Given the description of an element on the screen output the (x, y) to click on. 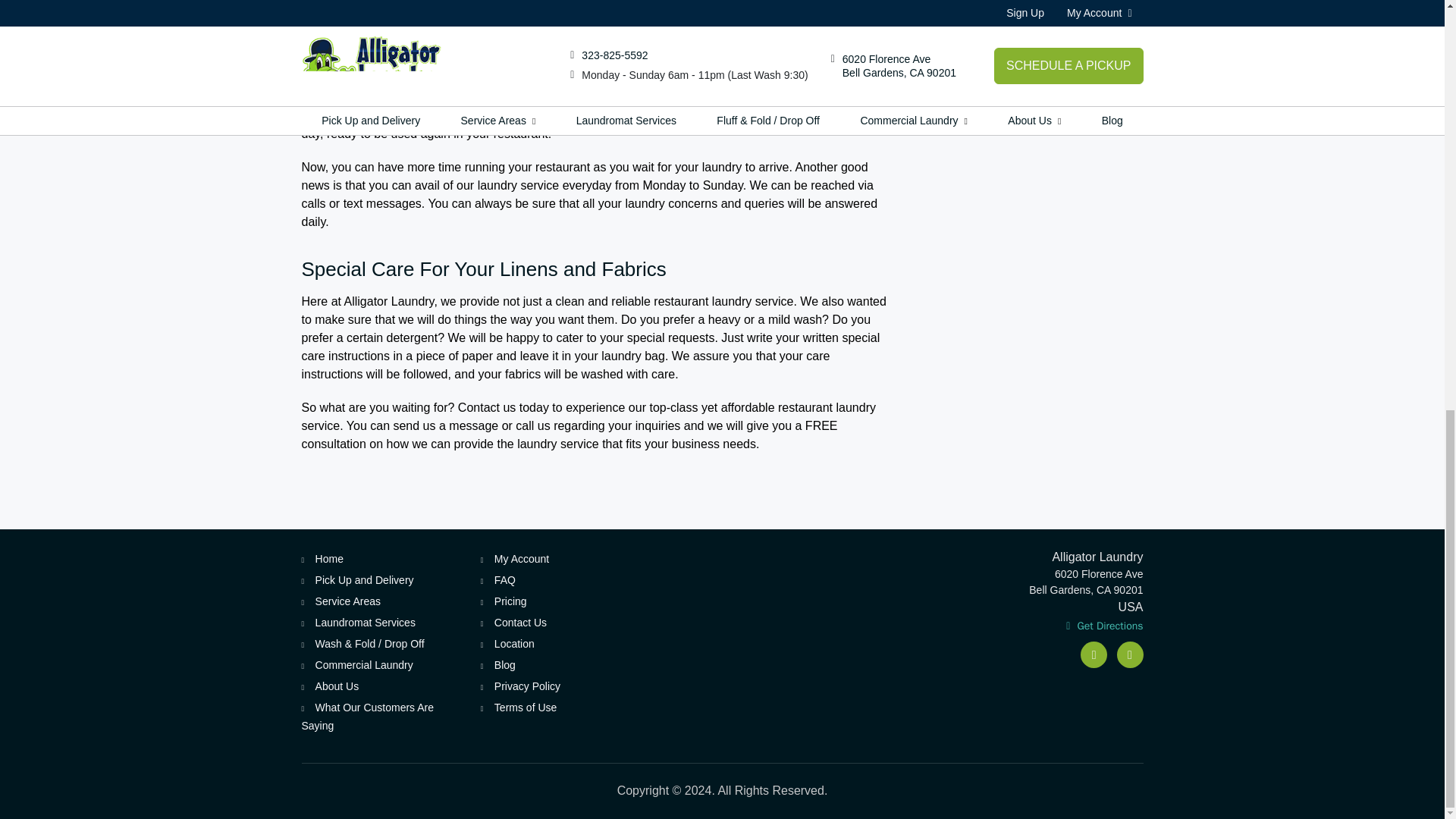
GET YOUR CUSTOM QUOTE! (1042, 68)
